Given the description of an element on the screen output the (x, y) to click on. 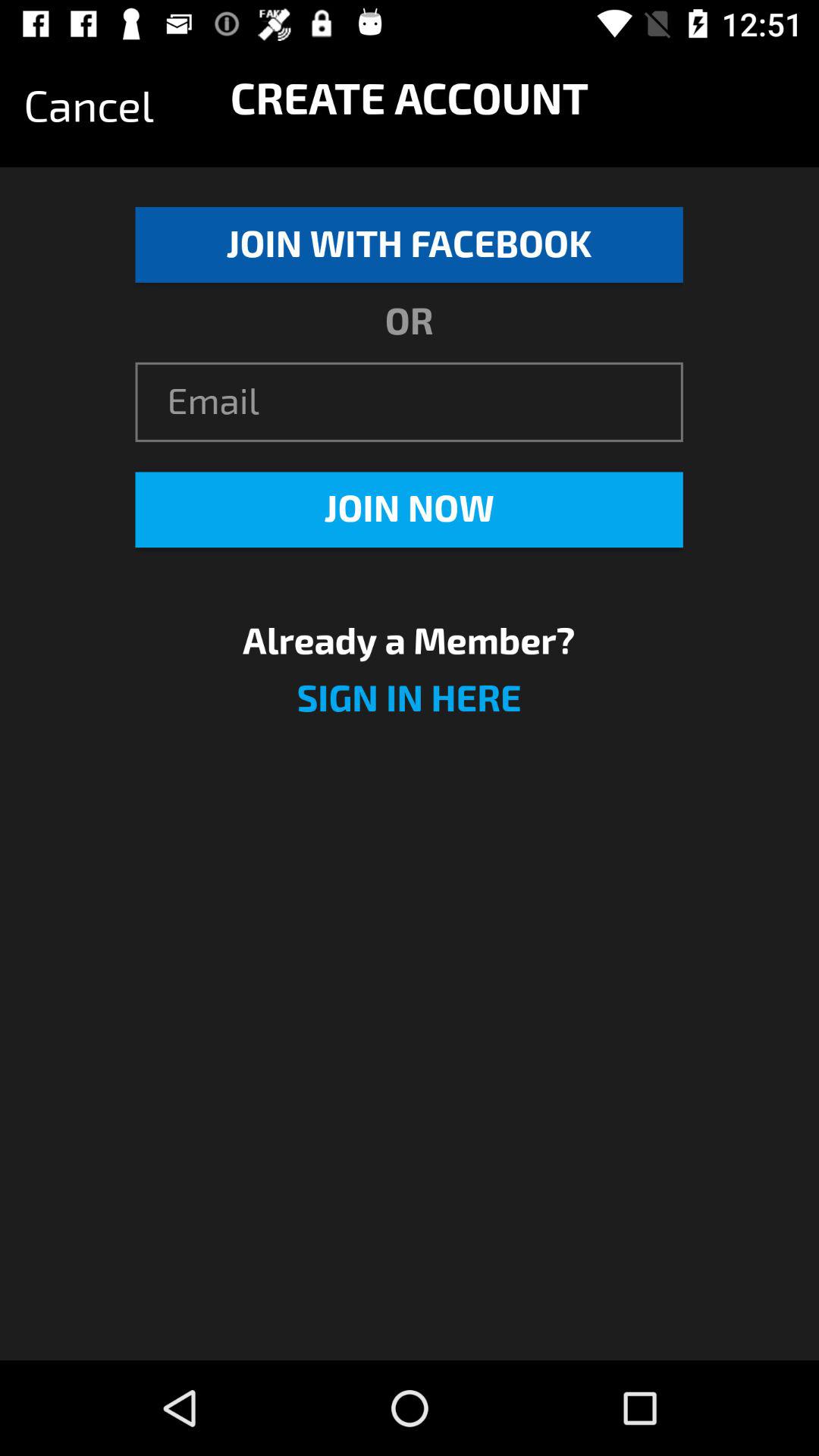
turn on icon next to the create account icon (89, 107)
